Given the description of an element on the screen output the (x, y) to click on. 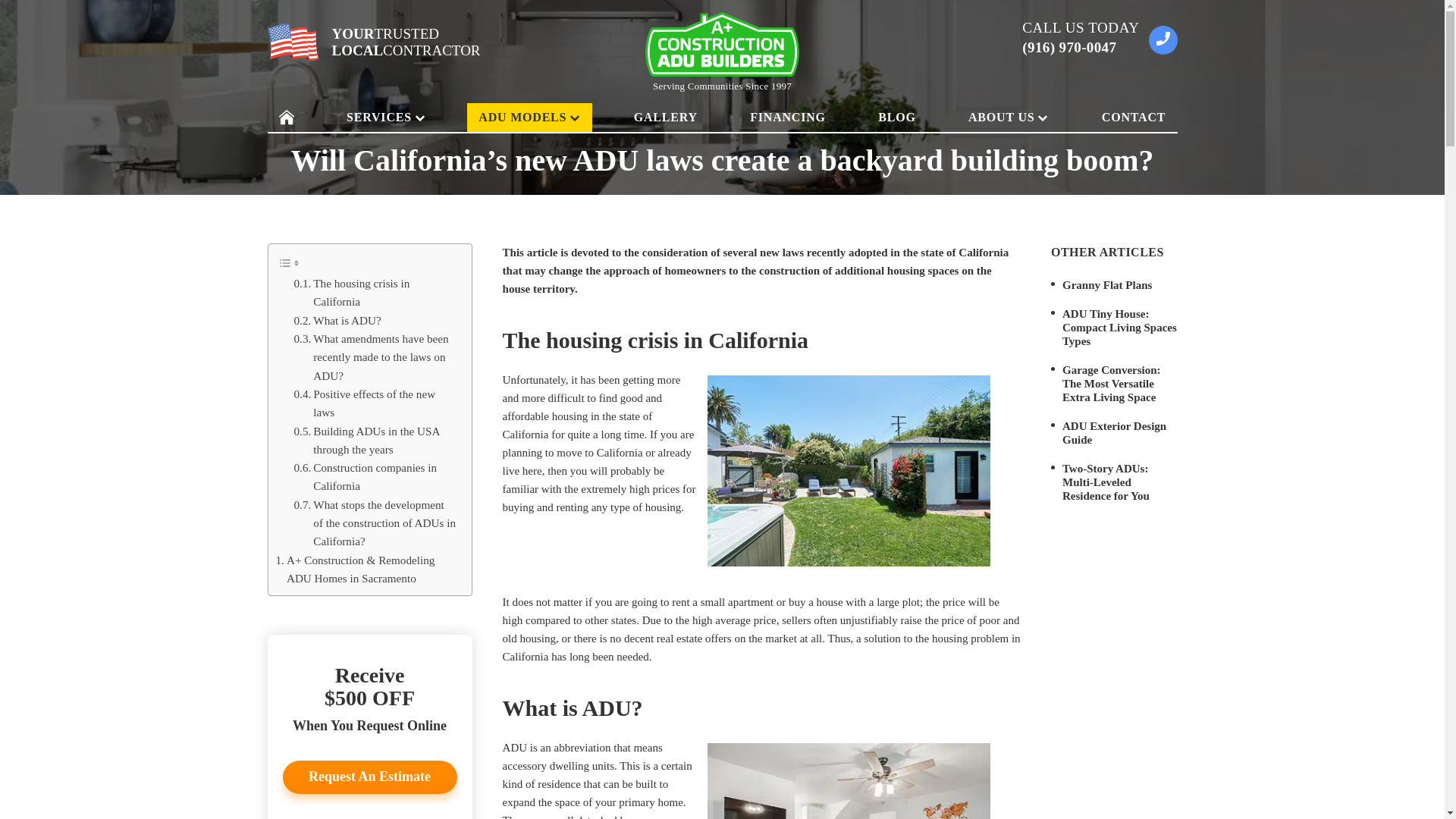
Building ADUs in the USA through the years (375, 439)
What amendments have been recently made to the laws on ADU? (375, 357)
Construction companies in California (375, 477)
Positive effects of the new laws (375, 403)
What is ADU? (337, 321)
The housing crisis in California (375, 293)
